Given the description of an element on the screen output the (x, y) to click on. 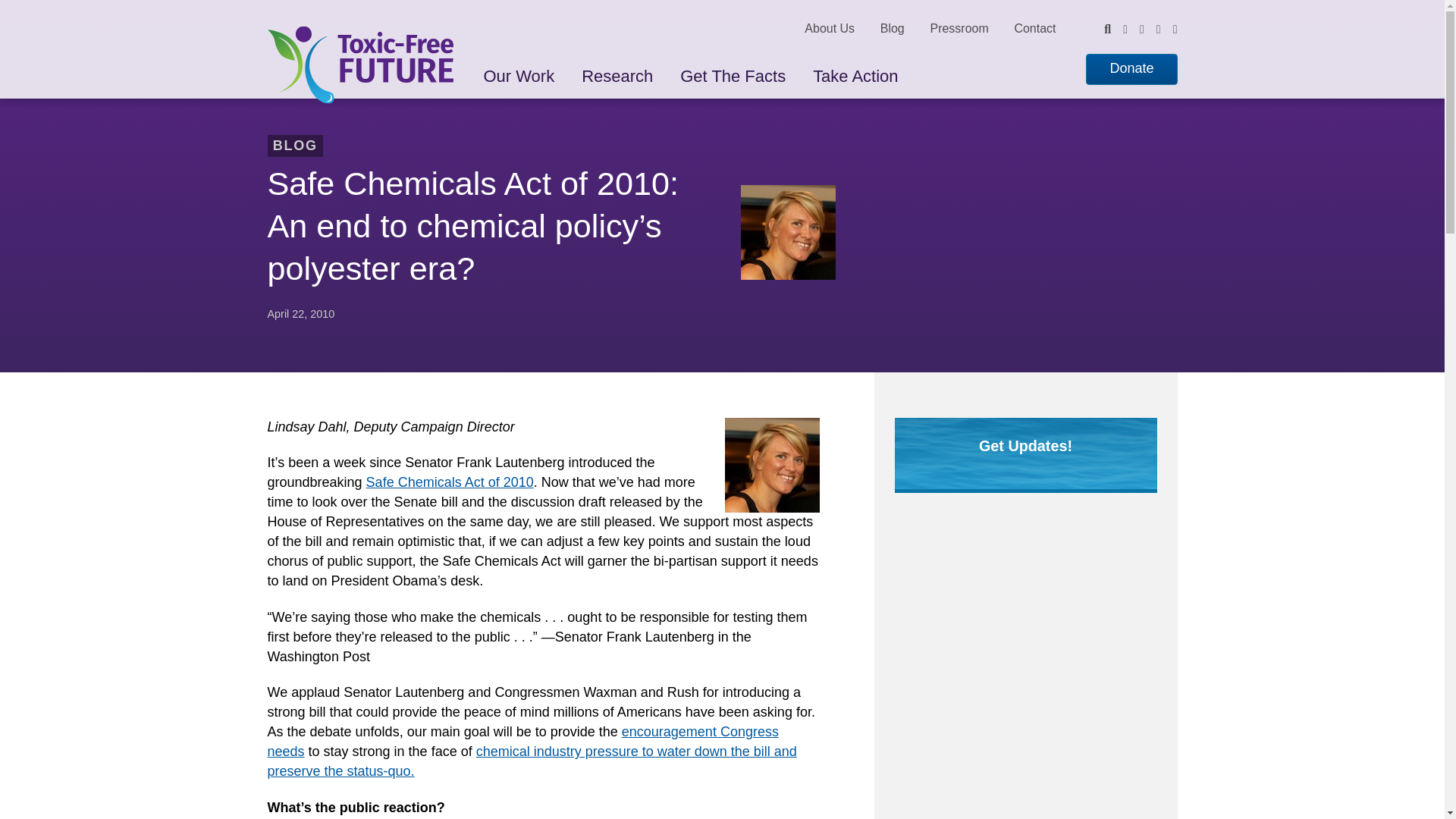
Research (616, 75)
Get The Facts (732, 75)
Lindsay Dahl (772, 464)
Our Work (517, 75)
